Given the description of an element on the screen output the (x, y) to click on. 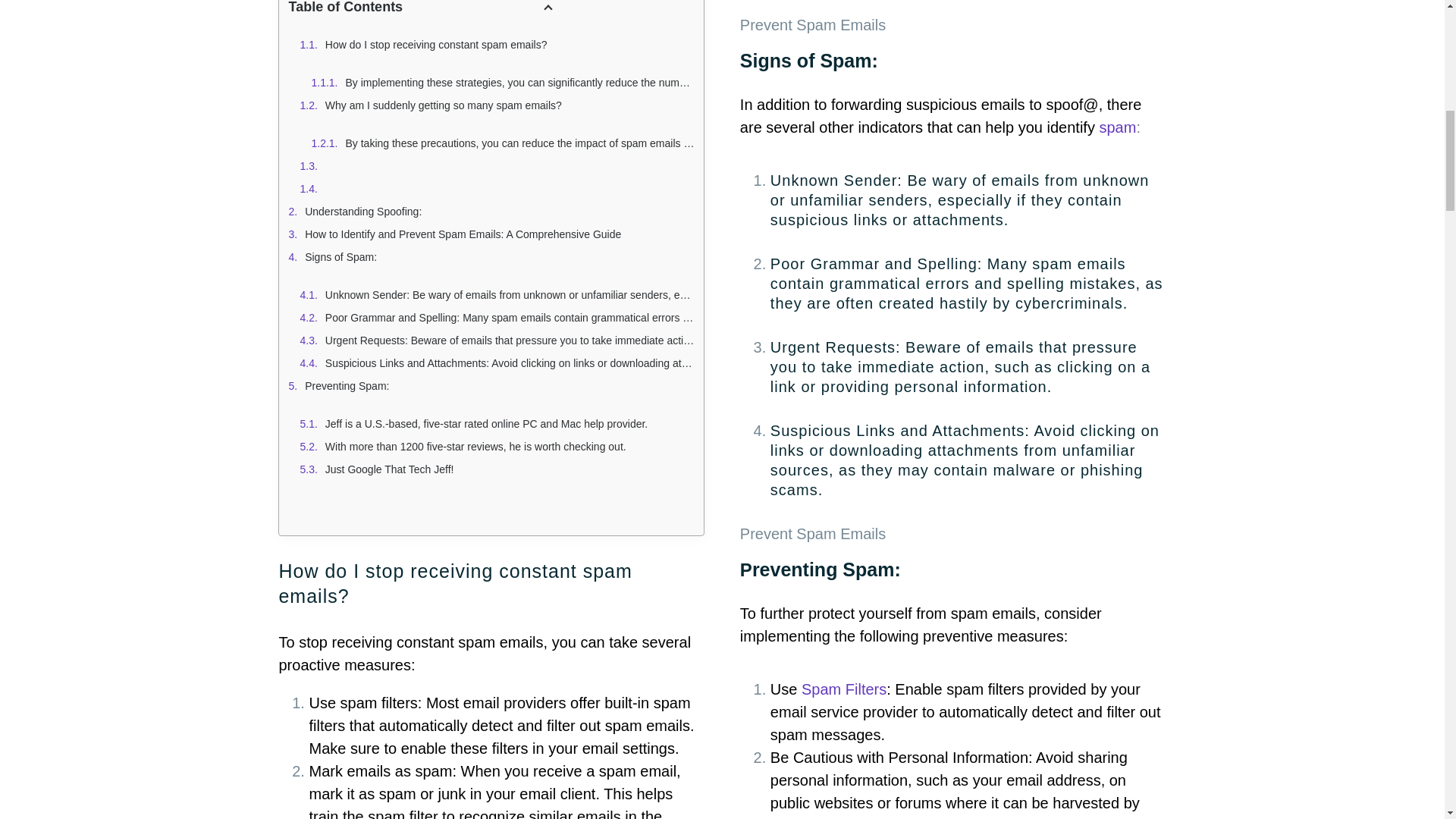
Just Google That Tech Jeff! (496, 468)
Understanding Spoofing: (491, 210)
How do I stop receiving constant spam emails? (496, 44)
Signs of Spam: (491, 256)
Preventing Spam: (491, 385)
